Given the description of an element on the screen output the (x, y) to click on. 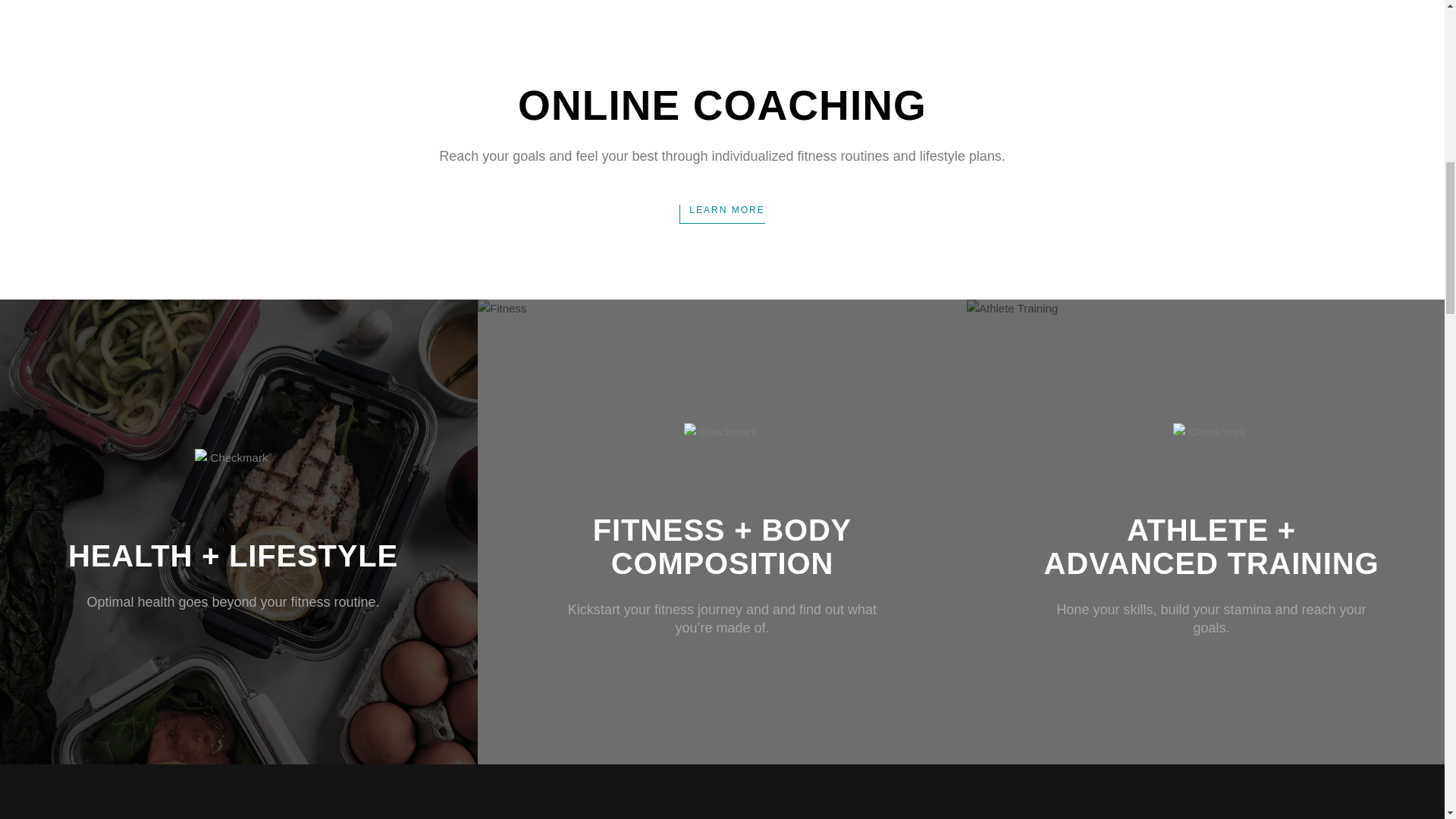
LEARN MORE (721, 213)
